Given the description of an element on the screen output the (x, y) to click on. 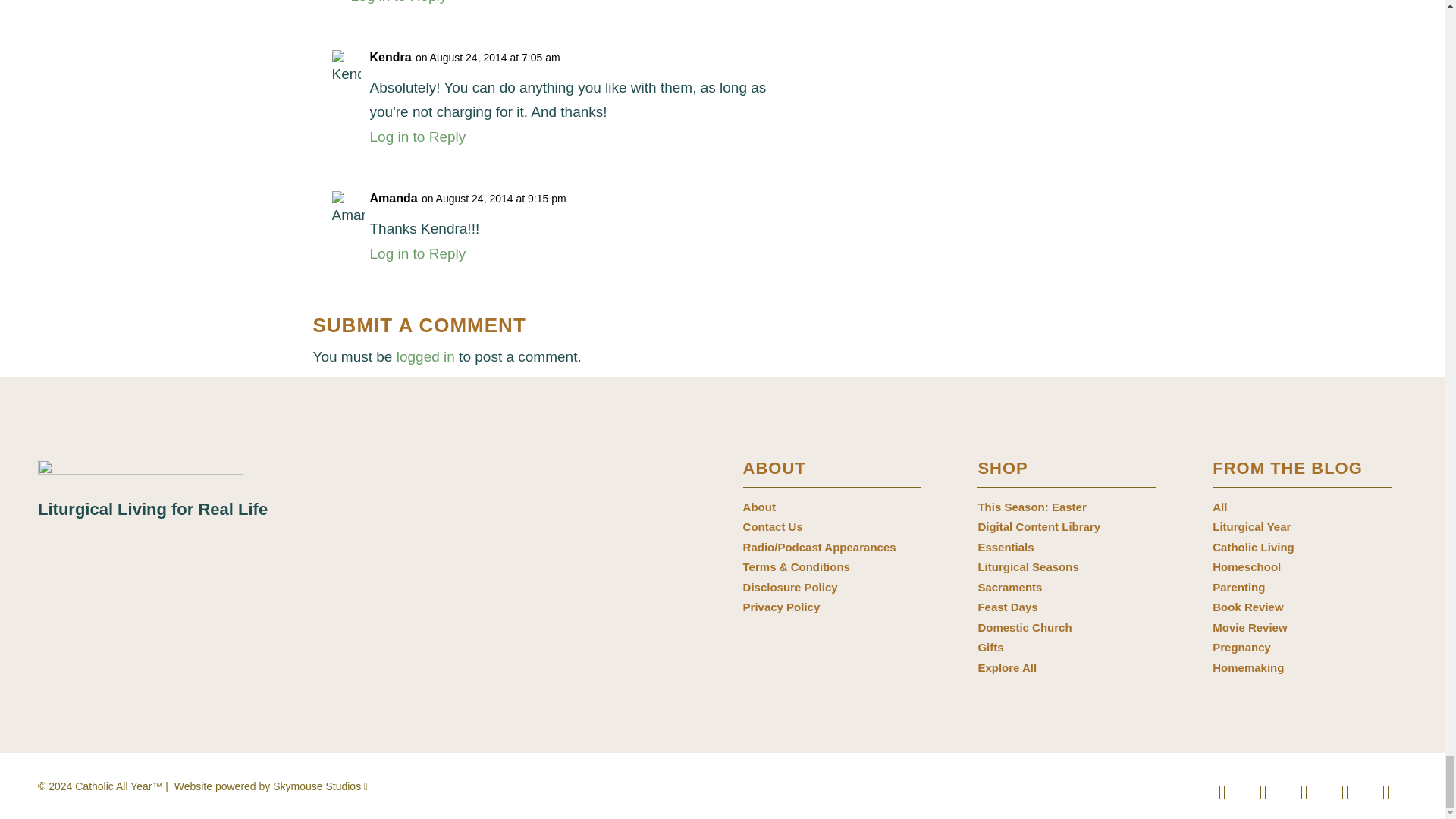
Follow on Pinterest (1304, 792)
Follow on RSS (1385, 792)
Follow on Instagram (1263, 792)
Follow on Facebook (1222, 792)
Follow on Youtube (1344, 792)
